Given the description of an element on the screen output the (x, y) to click on. 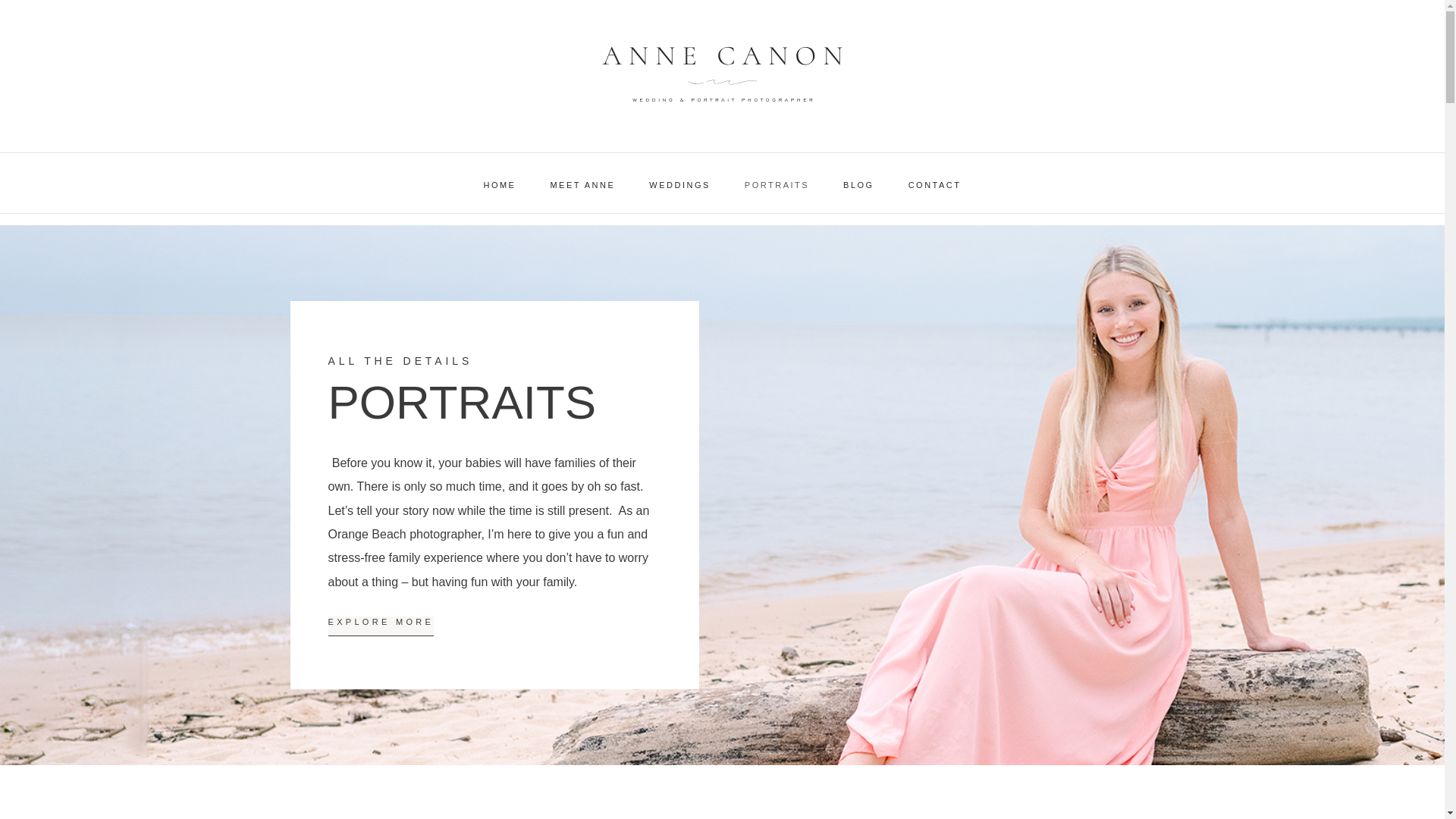
WEDDINGS (679, 184)
EXPLORE MORE (380, 626)
CONTACT (935, 184)
PORTRAITS (776, 184)
HOME (499, 184)
MEET ANNE (582, 184)
BLOG (858, 184)
